Given the description of an element on the screen output the (x, y) to click on. 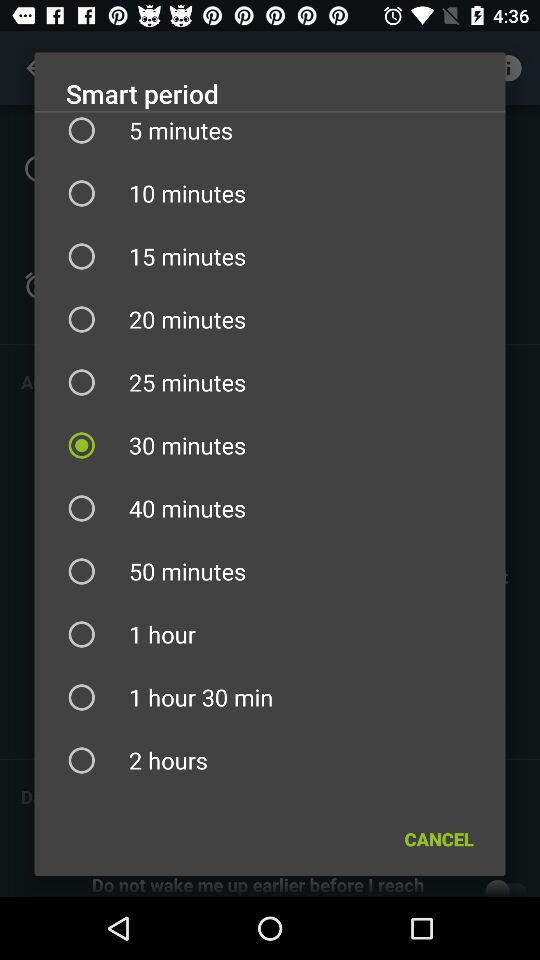
launch the icon below 2 hours (438, 838)
